Given the description of an element on the screen output the (x, y) to click on. 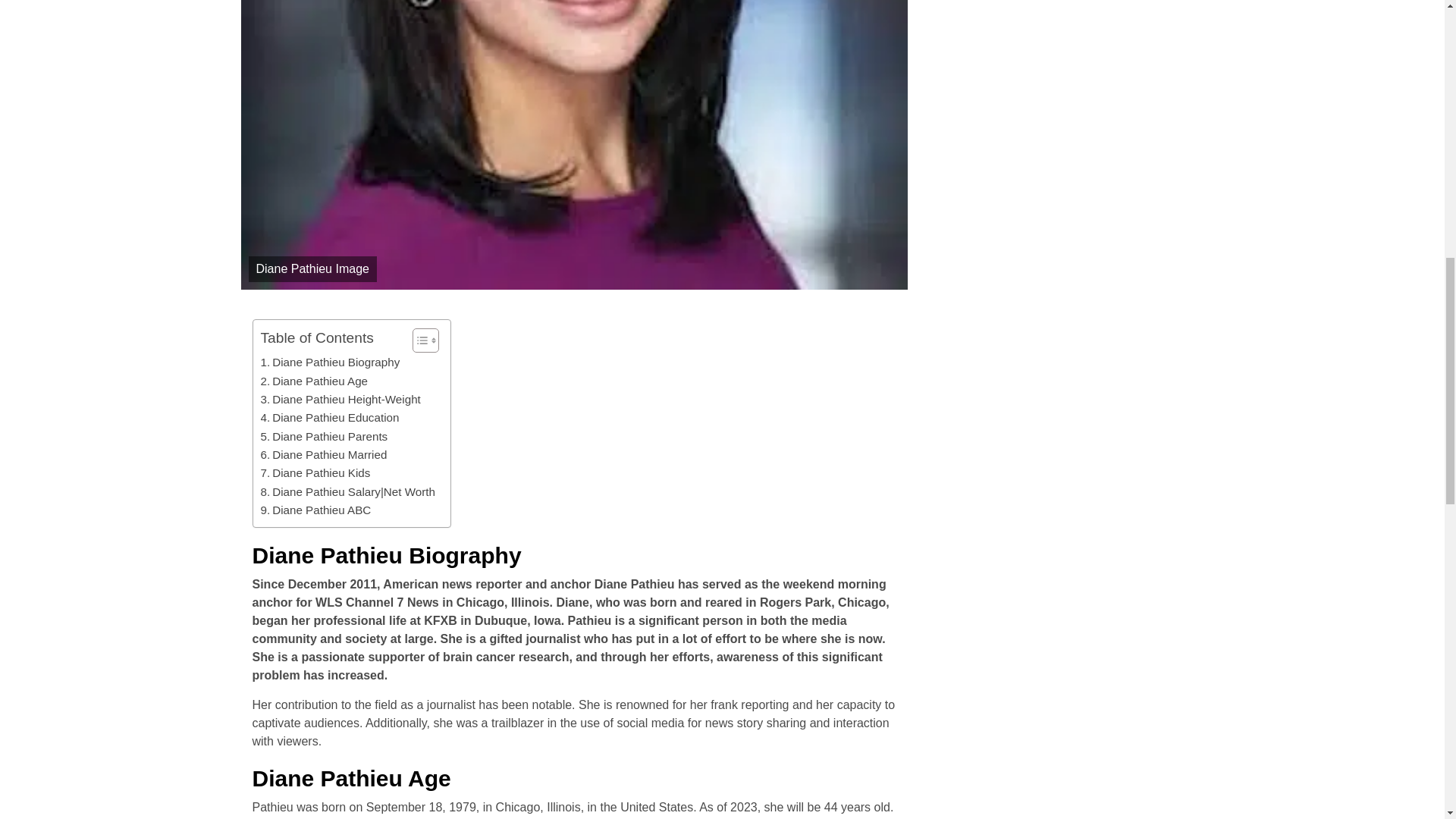
Diane Pathieu Age (314, 381)
Diane Pathieu Parents (324, 436)
Diane Pathieu Biography (330, 361)
Diane Pathieu Height-Weight (340, 399)
Diane Pathieu Parents (324, 436)
Diane Pathieu Education (329, 417)
Diane Pathieu Married (323, 454)
Diane Pathieu Education (329, 417)
Diane Pathieu Kids (315, 473)
Diane Pathieu Married (323, 454)
